Given the description of an element on the screen output the (x, y) to click on. 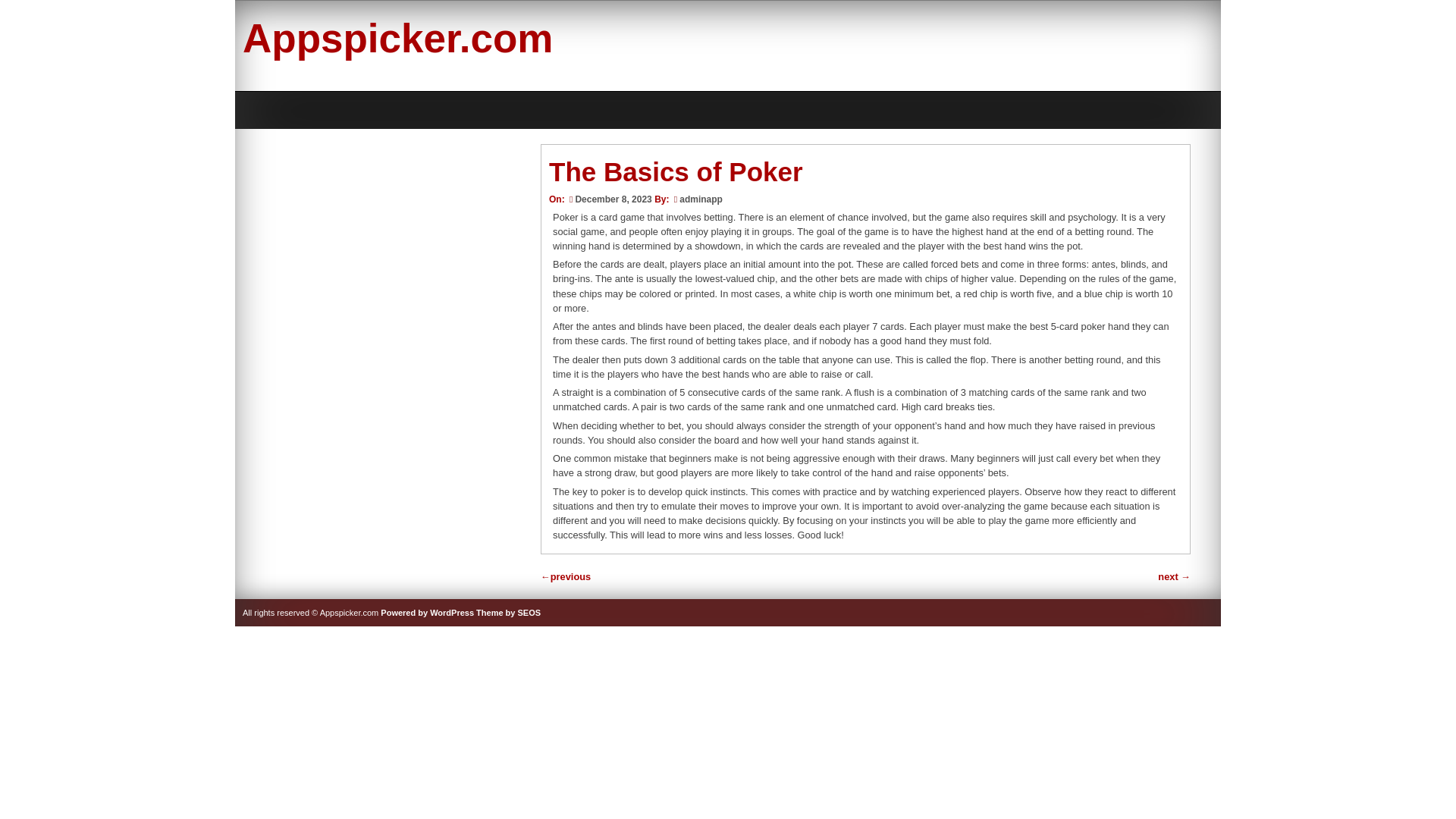
Powered by WordPress (427, 612)
adminapp (700, 199)
Appspicker.com (398, 37)
December 8, 2023 (609, 199)
Seos free wordpress themes (508, 612)
Theme by SEOS (508, 612)
